Given the description of an element on the screen output the (x, y) to click on. 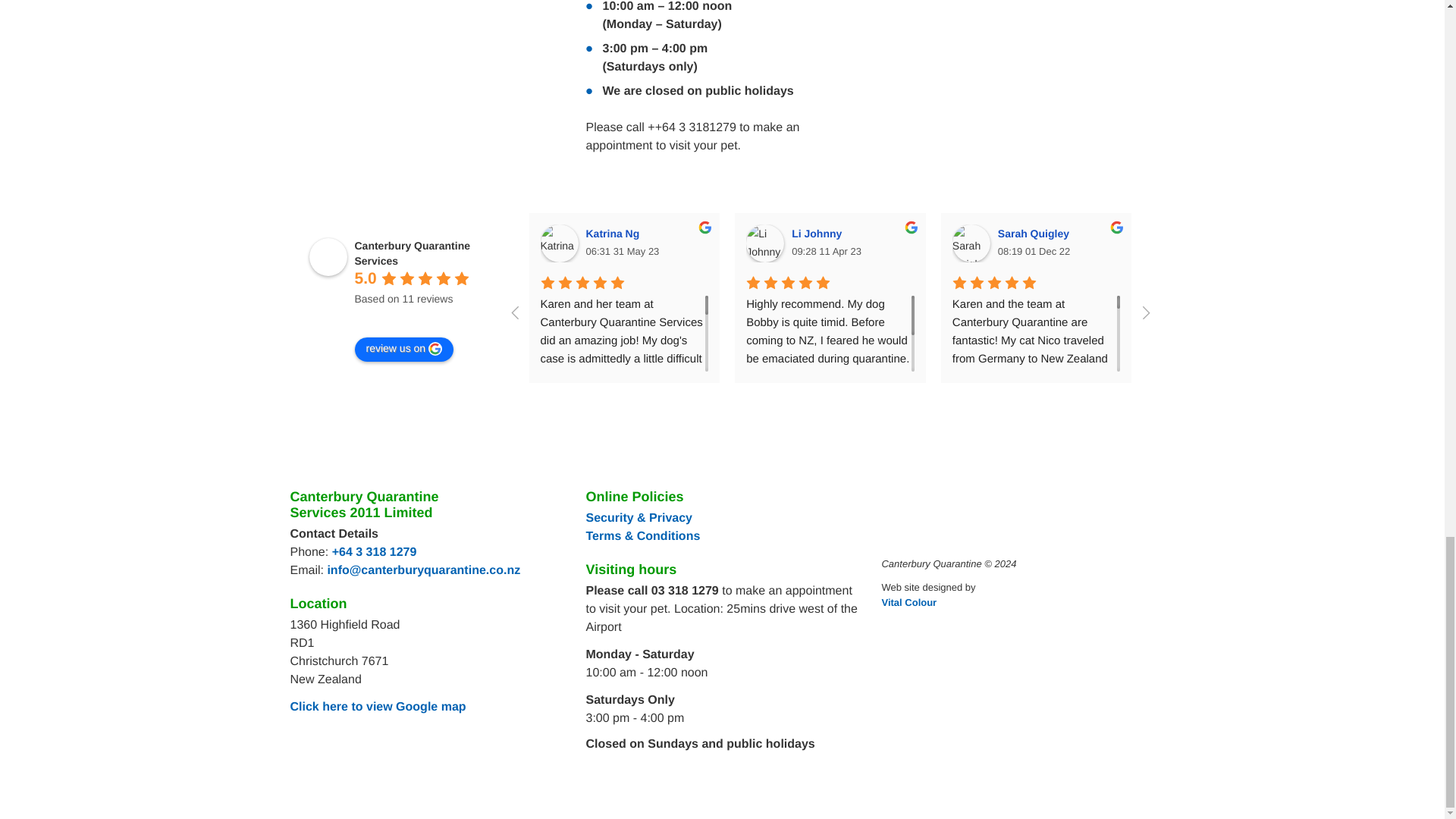
Kerri McBride (1383, 243)
Canterbury Quarantine Services (327, 257)
powered by Google (409, 317)
Rebecca Gammon (1252, 233)
Katrina Ng (614, 233)
Rebecca Gammon (1176, 243)
Canterbury Quarantine Services (412, 252)
Sarah Quigley (971, 243)
Li Johnny (764, 243)
review us on (404, 349)
Click here to view Google map (377, 707)
Vital Colour (908, 602)
Li Johnny (818, 233)
Katrina Ng (559, 243)
Sarah Quigley (1035, 233)
